Given the description of an element on the screen output the (x, y) to click on. 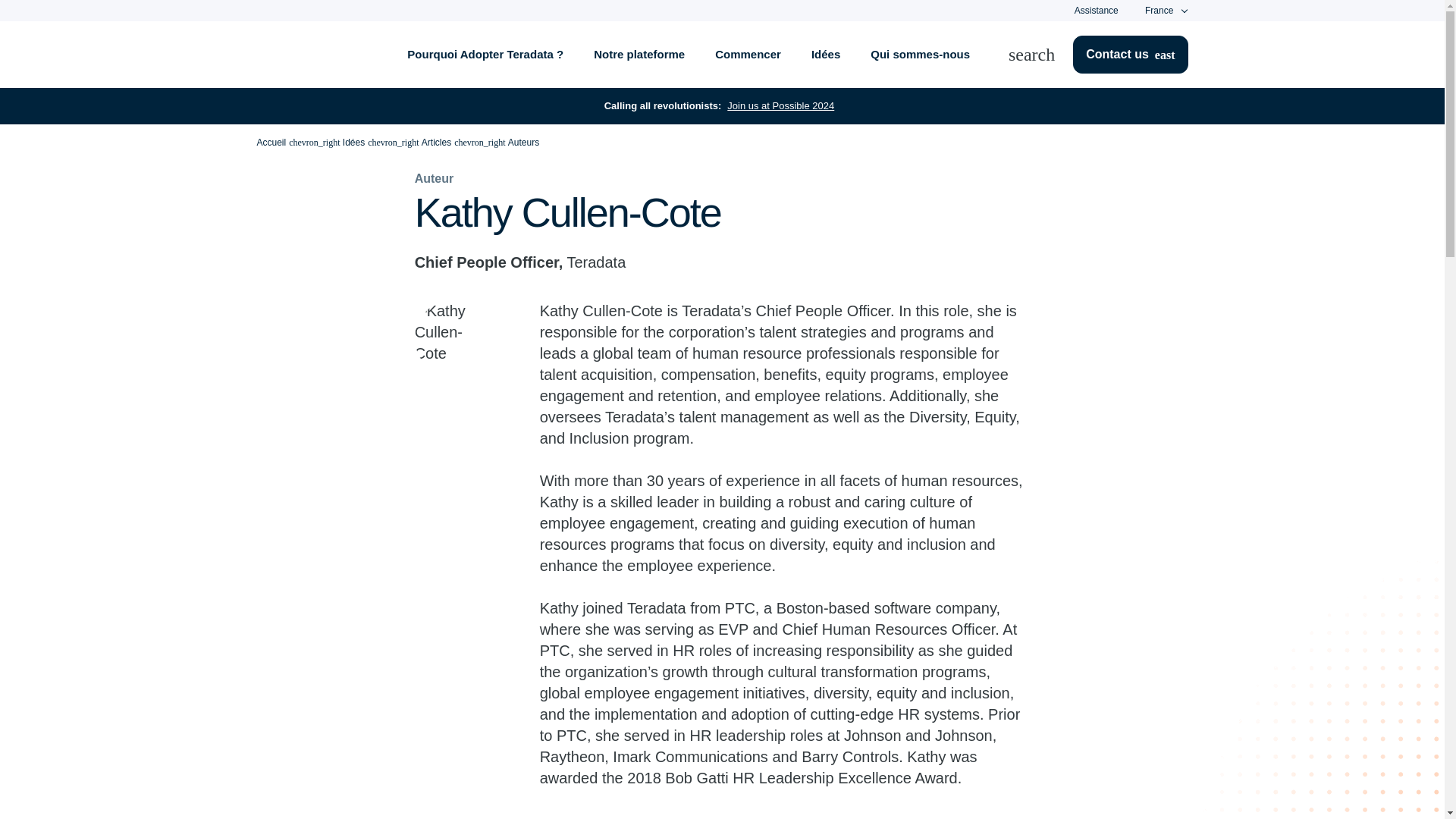
Auteurs (523, 142)
search (1041, 54)
Notre plateforme (639, 54)
Assistance (1096, 9)
Pourquoi Adopter Teradata ? (484, 54)
Qui sommes-nous (920, 54)
Commencer (748, 54)
Articles (436, 142)
Accueil (270, 142)
Kathy Cullen-Cote (452, 337)
